Given the description of an element on the screen output the (x, y) to click on. 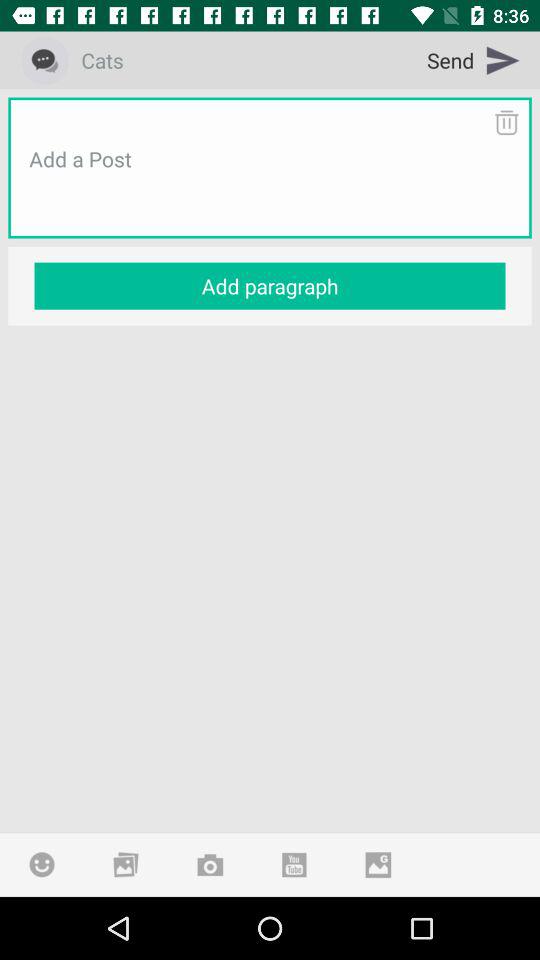
swipe to the add paragraph icon (269, 285)
